Given the description of an element on the screen output the (x, y) to click on. 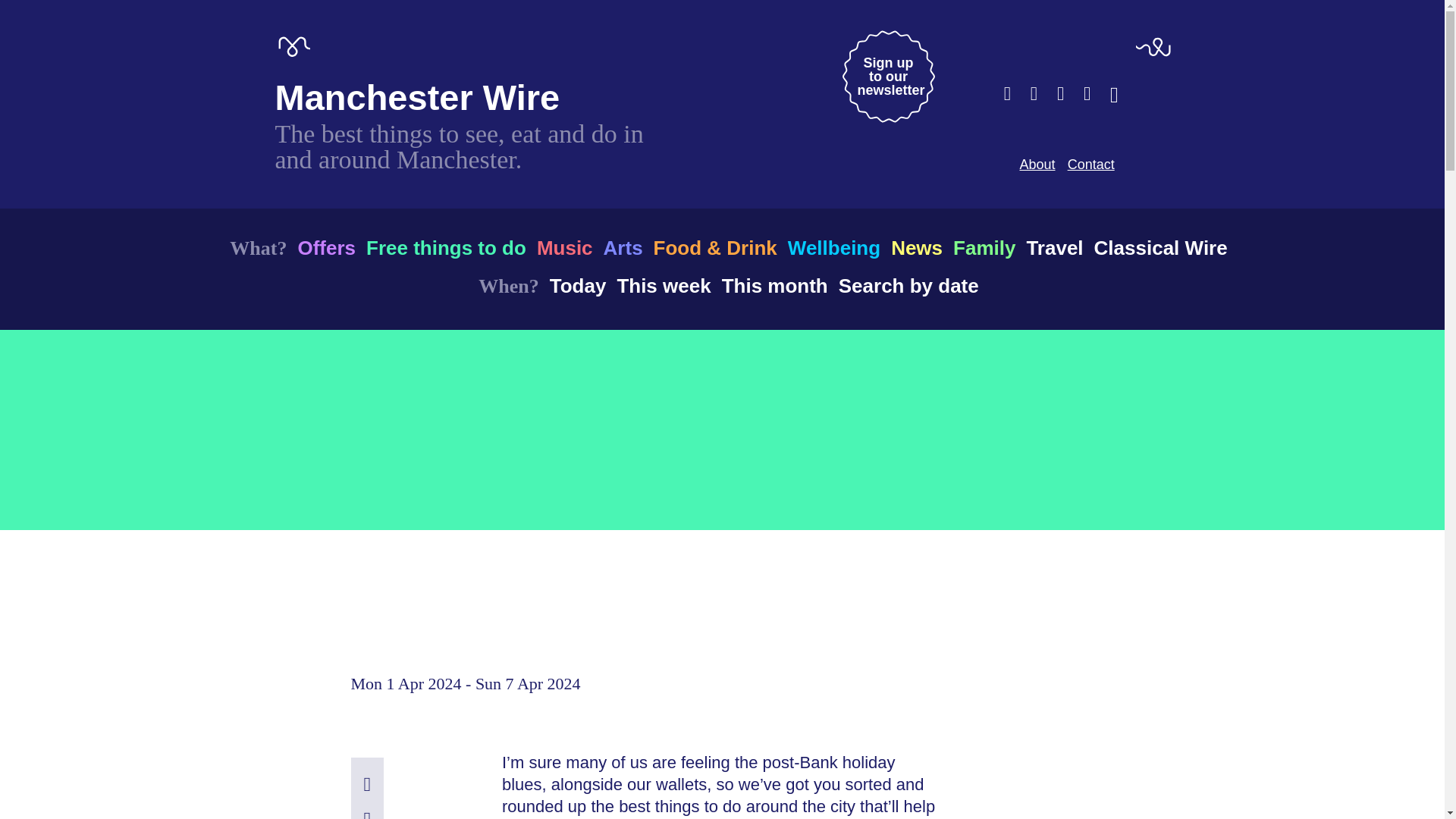
Contact (1091, 164)
Travel (1054, 248)
Family (983, 248)
Share on twitter (367, 813)
Free things to do (445, 248)
Search (1113, 94)
Follow us on instagram (1060, 93)
Share on facebook (367, 784)
Offers (326, 248)
Manchester Wire (417, 96)
About (1036, 164)
Today (578, 285)
Follow us on spotify (1086, 93)
This week (887, 76)
